Given the description of an element on the screen output the (x, y) to click on. 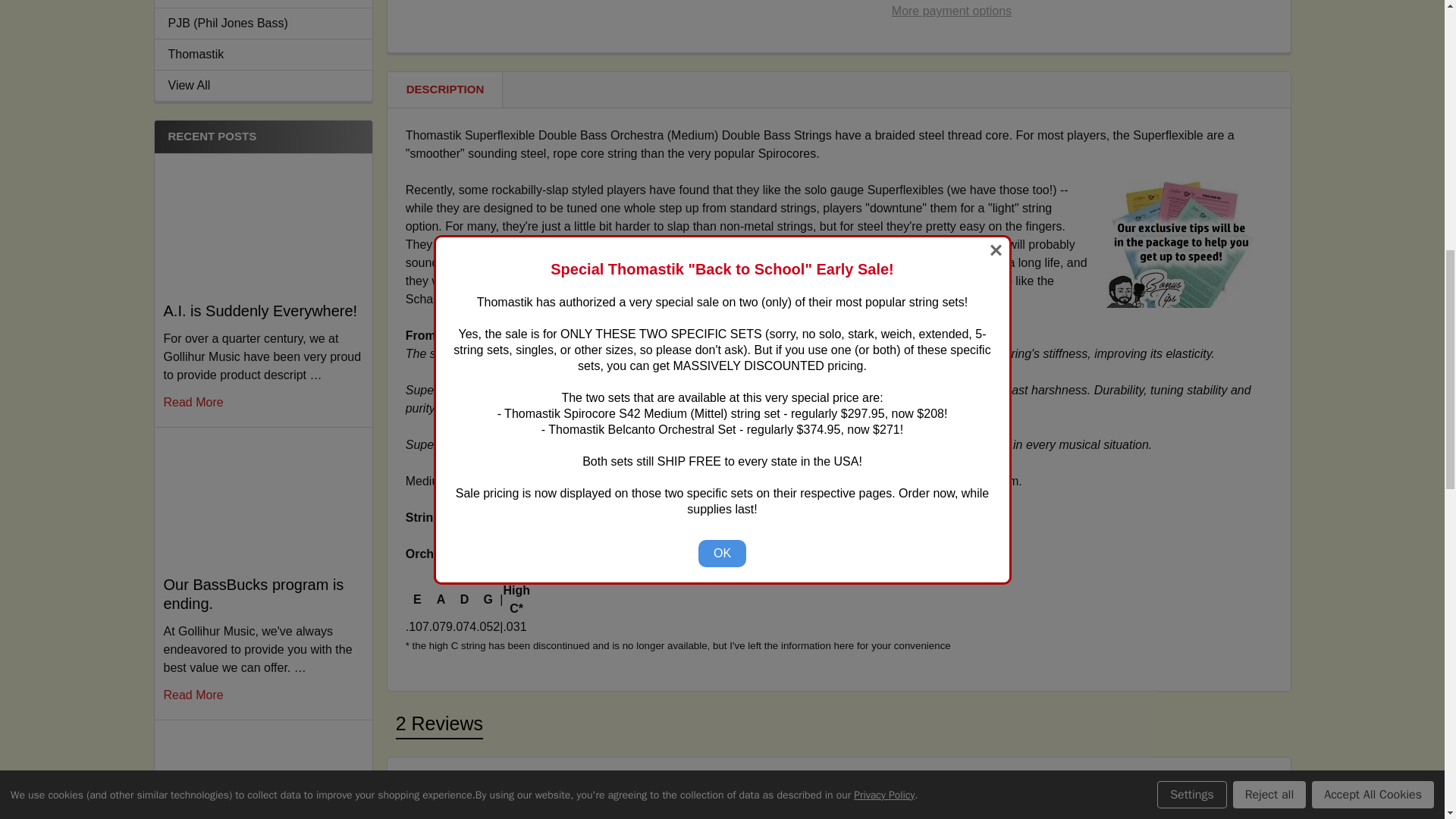
Our BassBucks program is ending.  (262, 500)
A.I. is Suddenly Everywhere! (262, 224)
Thomastik (263, 54)
Shopping for the Best Price Isn't Always Simple (262, 772)
